Given the description of an element on the screen output the (x, y) to click on. 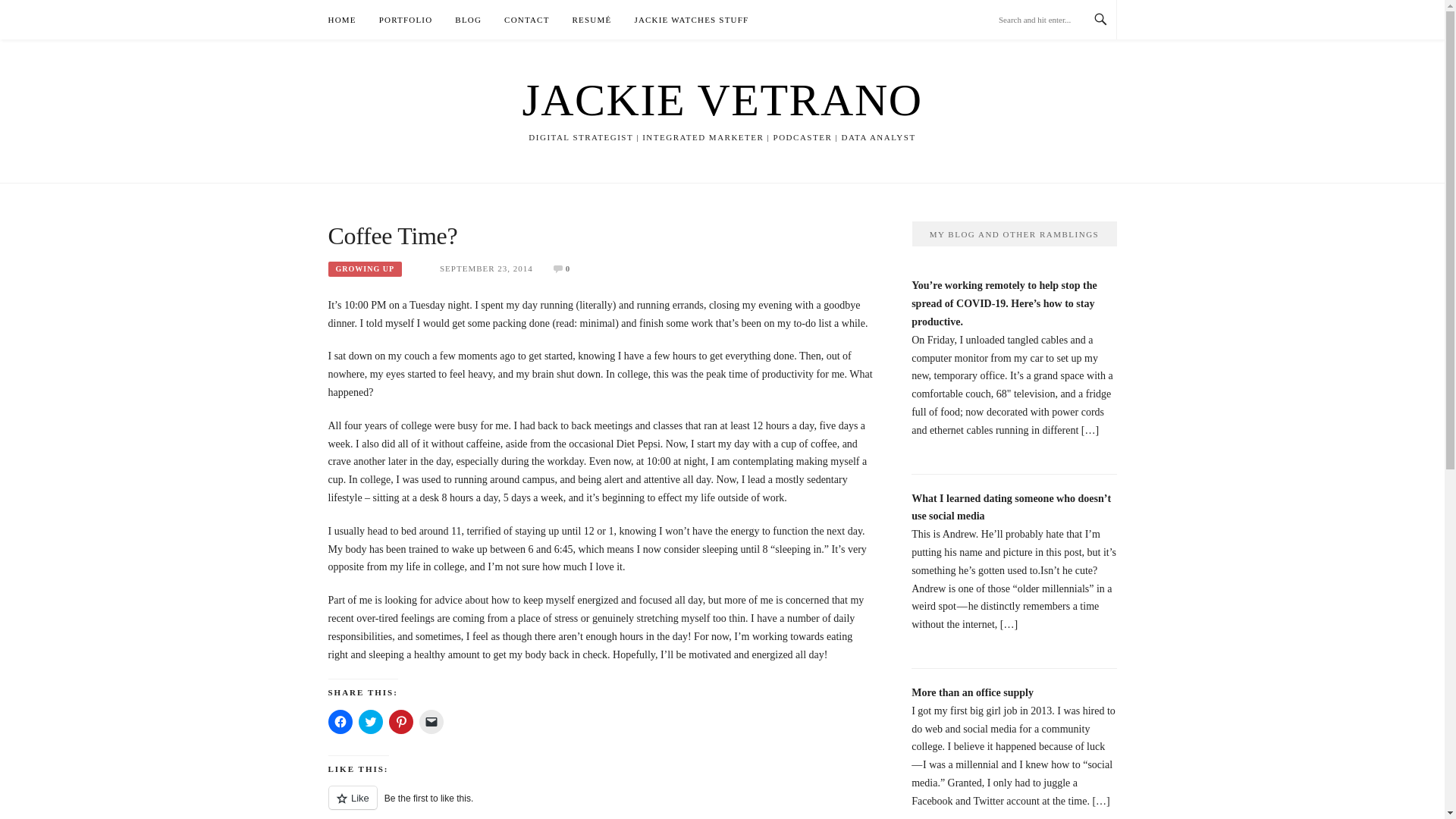
More than an office supply (972, 692)
Click to share on Facebook (339, 721)
GROWING UP (364, 268)
Click to share on Pinterest (400, 721)
Click to email a link to a friend (430, 721)
Click to share on Twitter (369, 721)
PORTFOLIO (405, 19)
Like or Reblog (600, 802)
JACKIE WATCHES STUFF (690, 19)
CONTACT (525, 19)
